Given the description of an element on the screen output the (x, y) to click on. 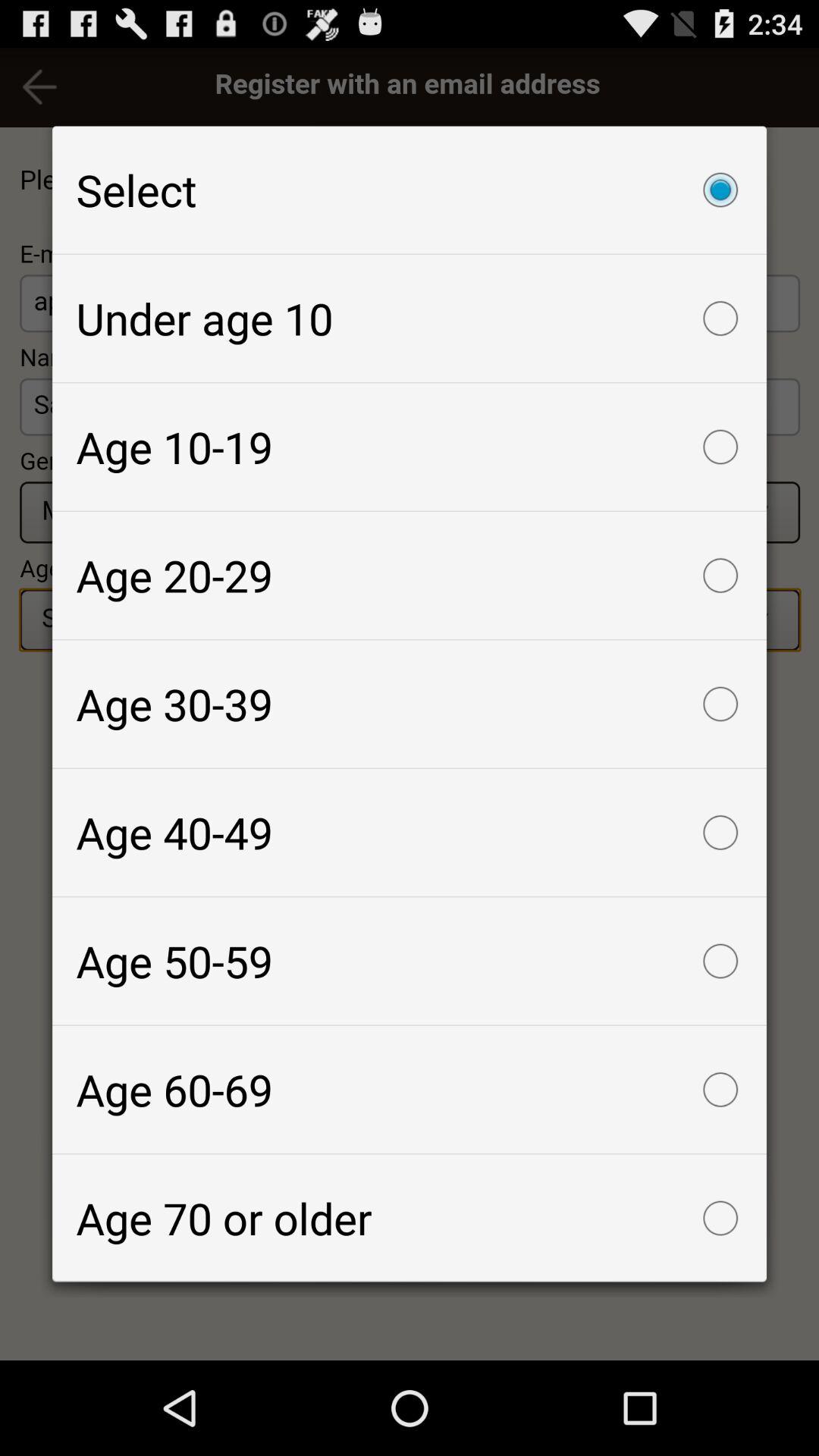
turn on the item above age 50-59 (409, 832)
